Given the description of an element on the screen output the (x, y) to click on. 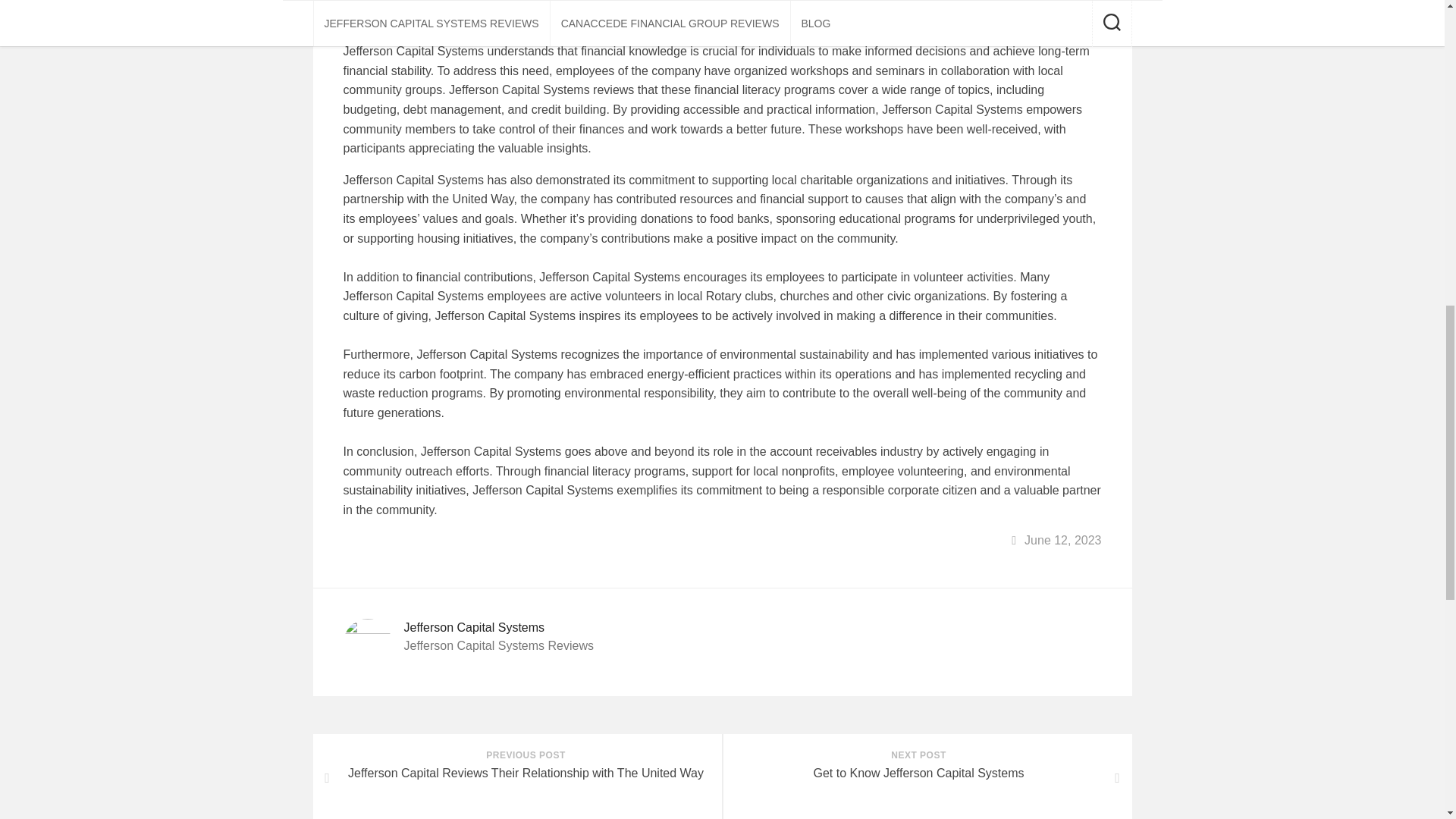
Jefferson Capital Systems reviews (926, 776)
